Given the description of an element on the screen output the (x, y) to click on. 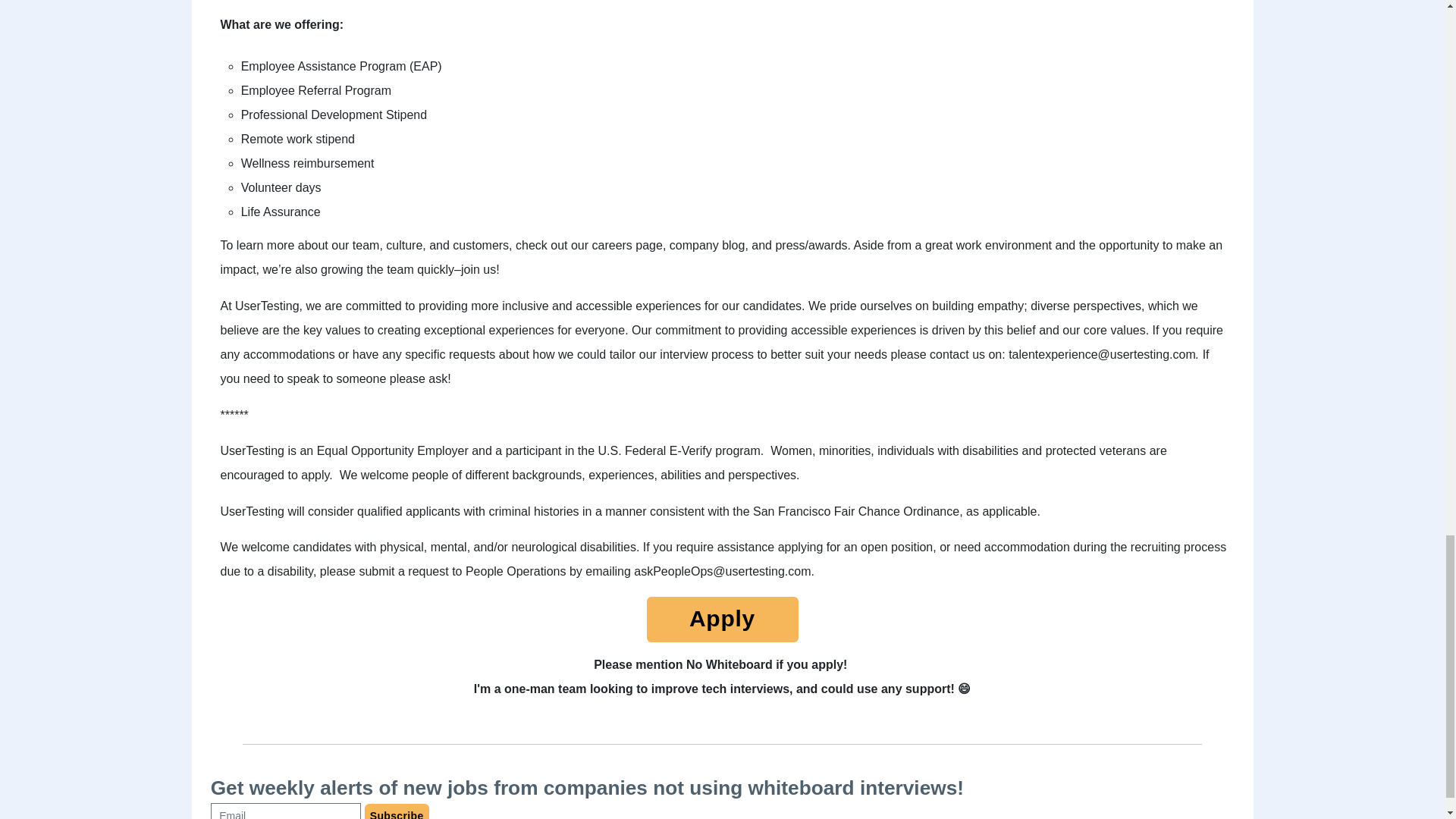
careers page (627, 245)
company blog (707, 245)
Apply (721, 619)
Apply (721, 622)
Subscribe (397, 811)
